Given the description of an element on the screen output the (x, y) to click on. 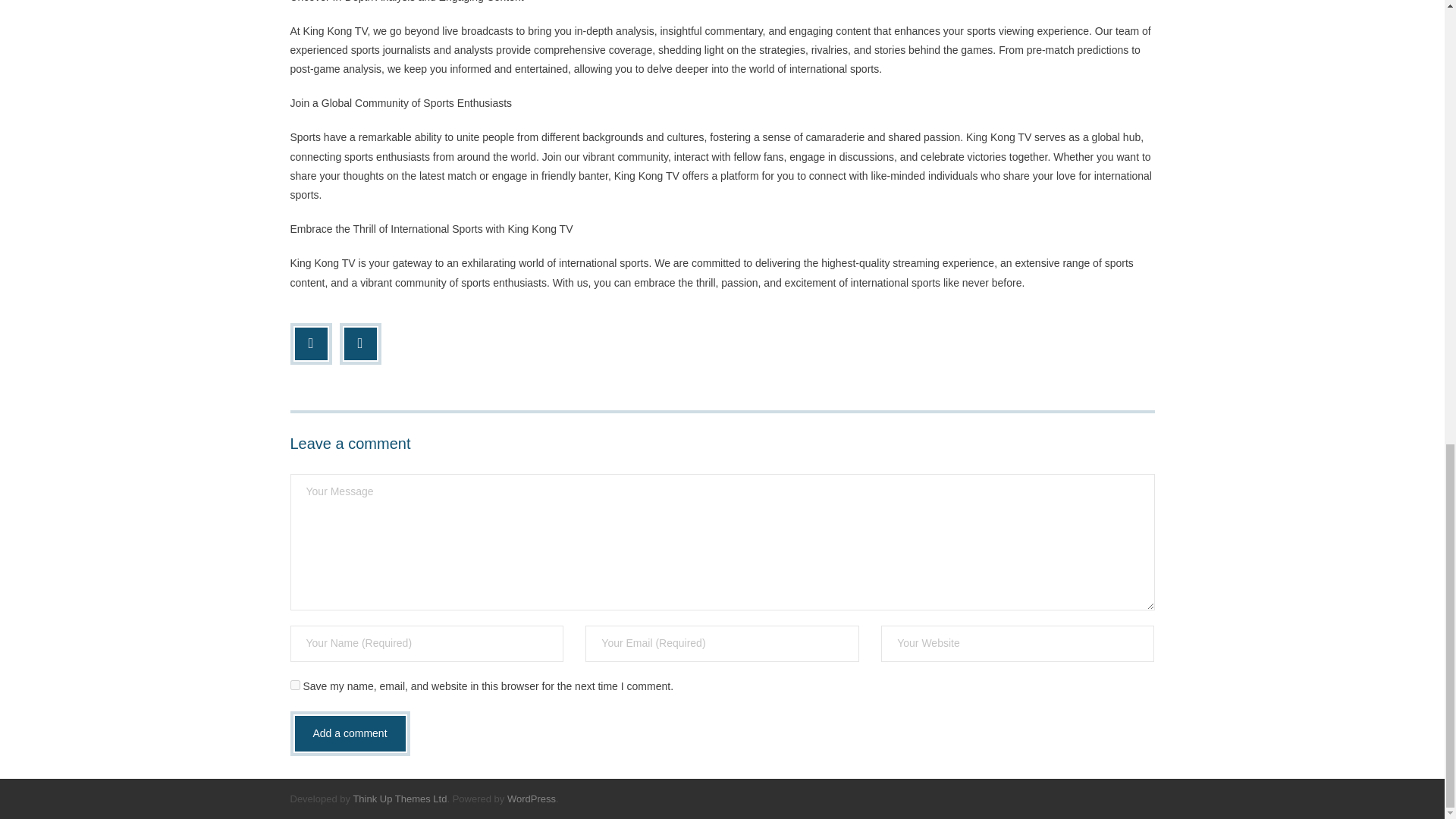
Add a comment (349, 733)
Add a comment (349, 733)
WordPress (531, 798)
yes (294, 685)
Think Up Themes Ltd (399, 798)
